Given the description of an element on the screen output the (x, y) to click on. 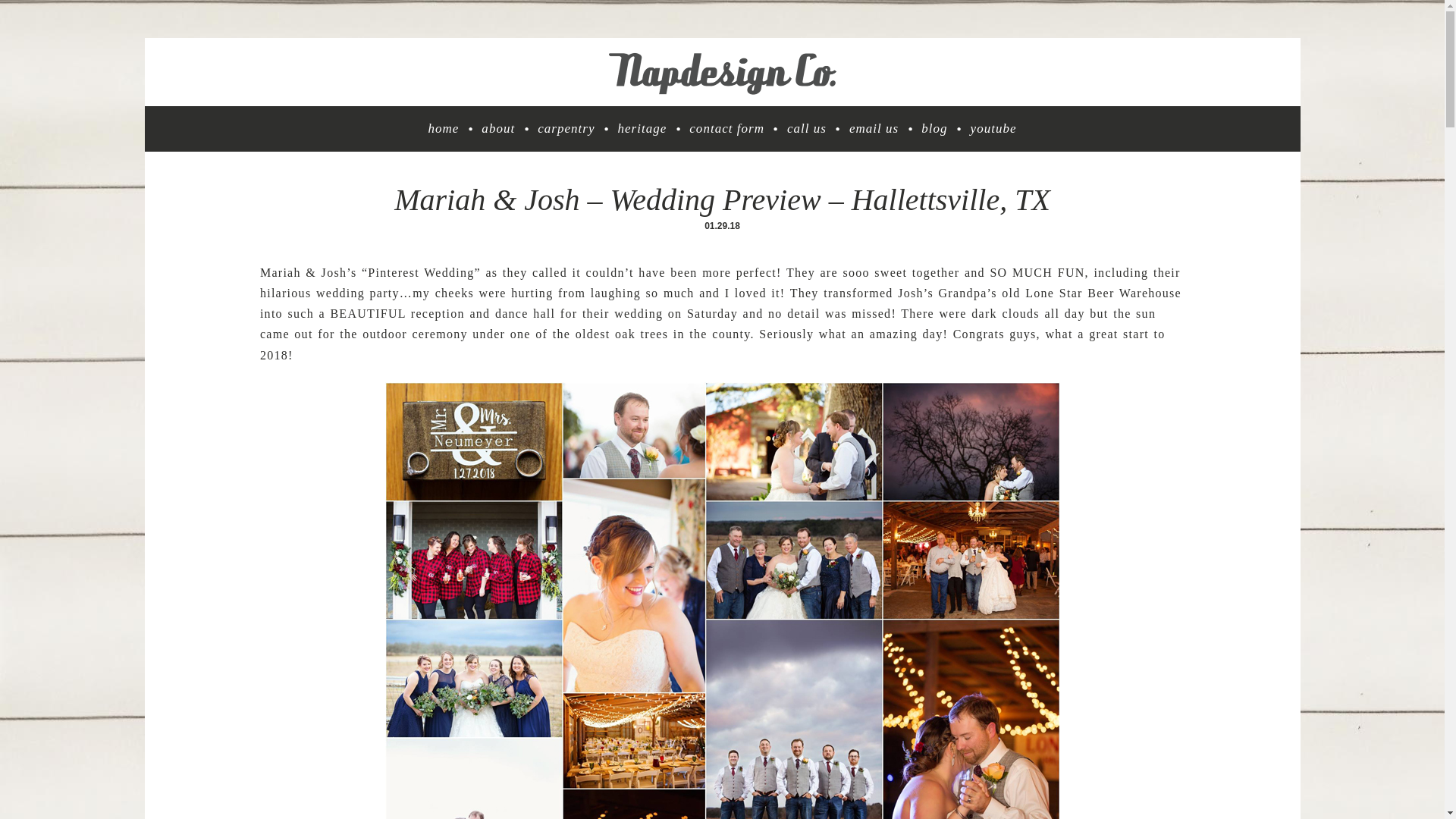
carpentry (565, 128)
heritage (641, 128)
about (498, 128)
home (443, 128)
